Given the description of an element on the screen output the (x, y) to click on. 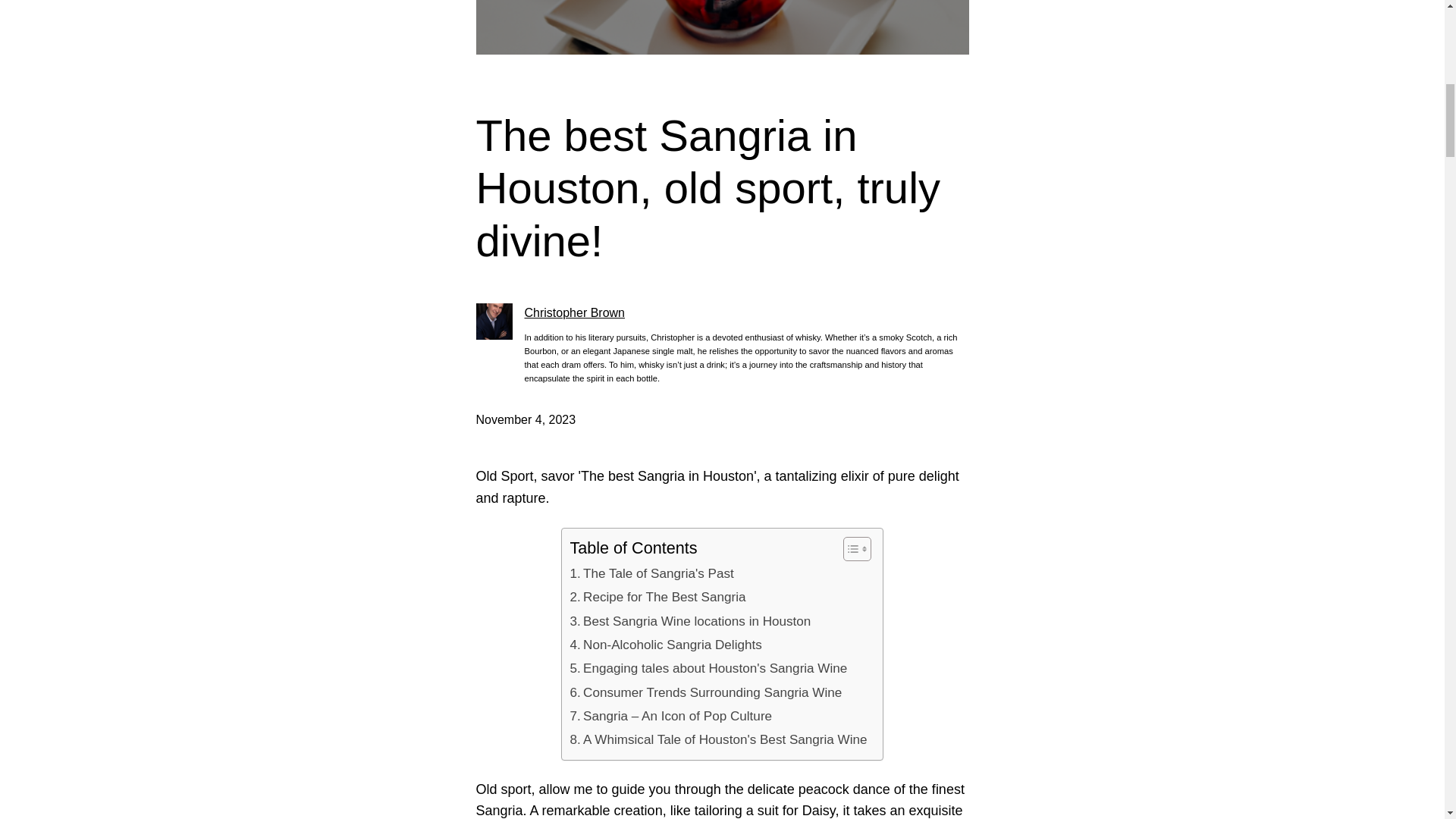
The Tale of Sangria's Past (651, 573)
Christopher Brown (575, 312)
A Whimsical Tale of Houston's Best Sangria Wine (717, 739)
Engaging tales about Houston's Sangria Wine (708, 668)
Recipe for The Best Sangria (657, 597)
Consumer Trends Surrounding Sangria Wine (705, 692)
A Whimsical Tale of Houston's Best Sangria Wine (717, 739)
Recipe for The Best Sangria (657, 597)
Best Sangria Wine locations in Houston (689, 621)
Engaging tales about Houston's Sangria Wine (708, 668)
Best Sangria Wine locations in Houston (689, 621)
Consumer Trends Surrounding Sangria Wine (705, 692)
Non-Alcoholic Sangria Delights (665, 644)
Non-Alcoholic Sangria Delights (665, 644)
The Tale of Sangria's Past (651, 573)
